Given the description of an element on the screen output the (x, y) to click on. 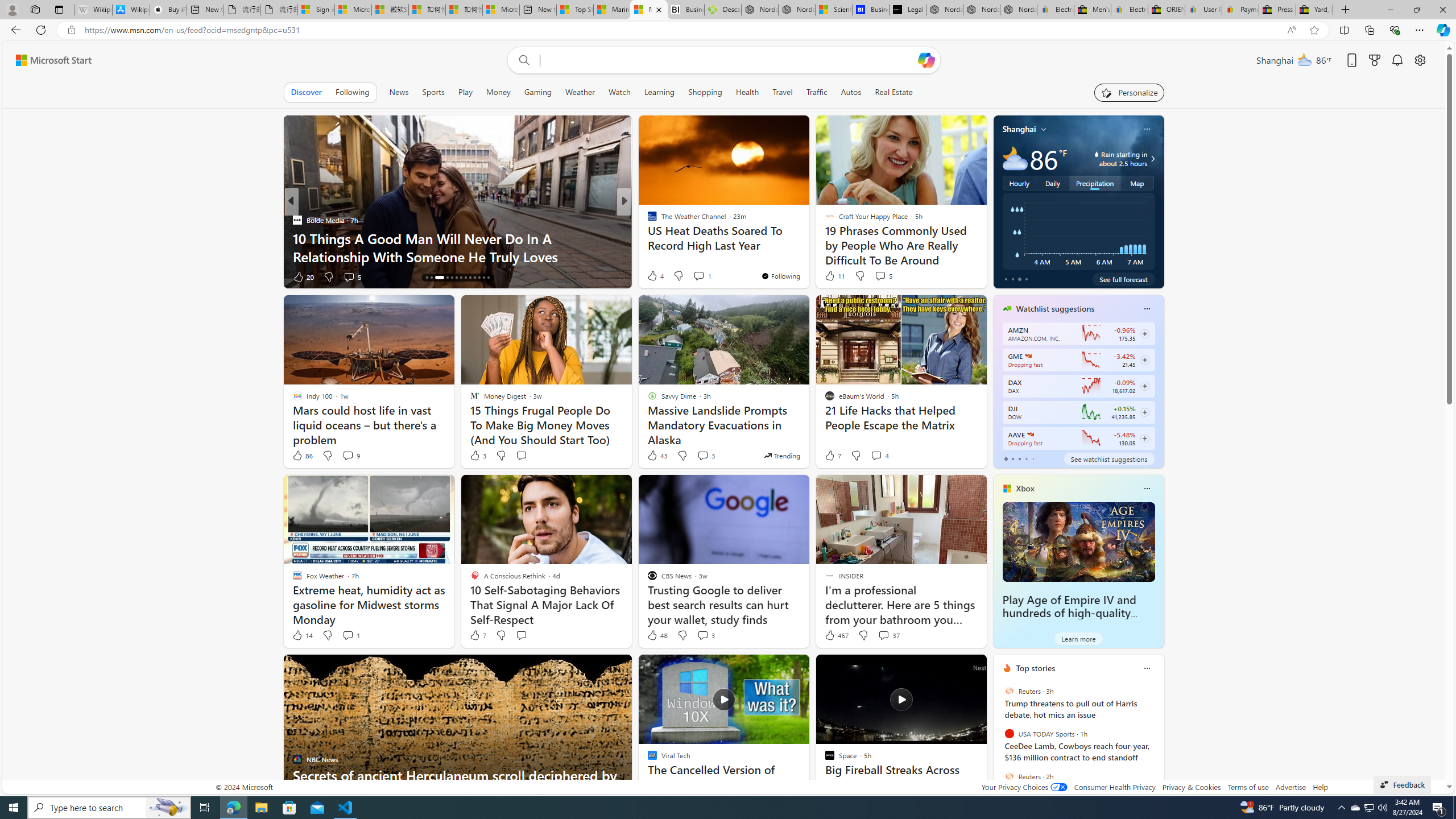
AutomationID: tab-16 (435, 277)
14 Quiet Ways People Get Revenge (807, 256)
AutomationID: tab-20 (460, 277)
150 Like (654, 276)
View comments 2 Comment (702, 276)
View comments 4 Comment (879, 455)
13 Like (652, 276)
Google is a monopoly. The fix isn't obvious (807, 256)
View comments 2 Comment (698, 276)
5k Like (302, 276)
AutomationID: tab-26 (488, 277)
